Given the description of an element on the screen output the (x, y) to click on. 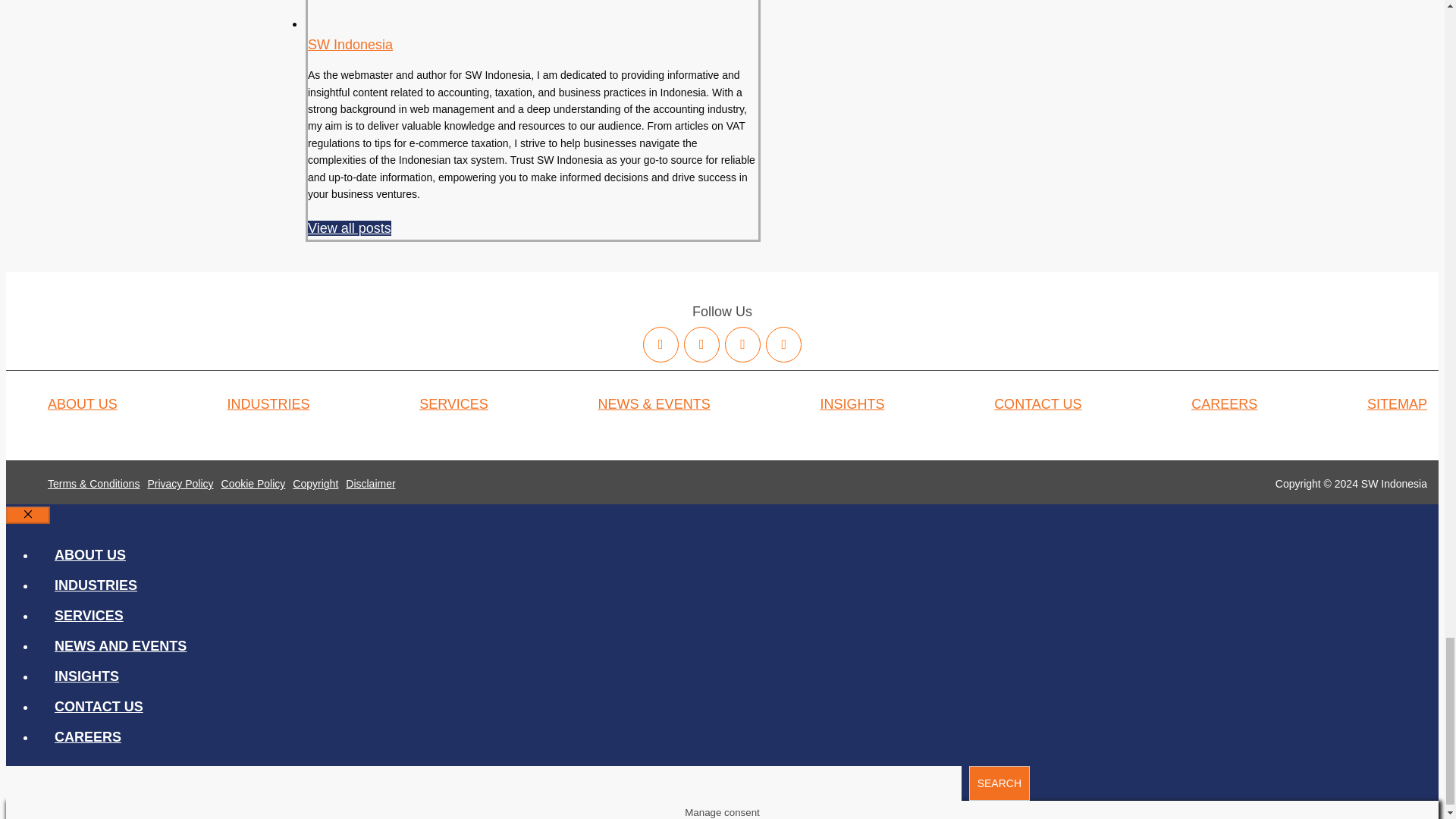
SW Indonesia (350, 44)
View all posts (349, 227)
SW Indonesia (350, 44)
